Given the description of an element on the screen output the (x, y) to click on. 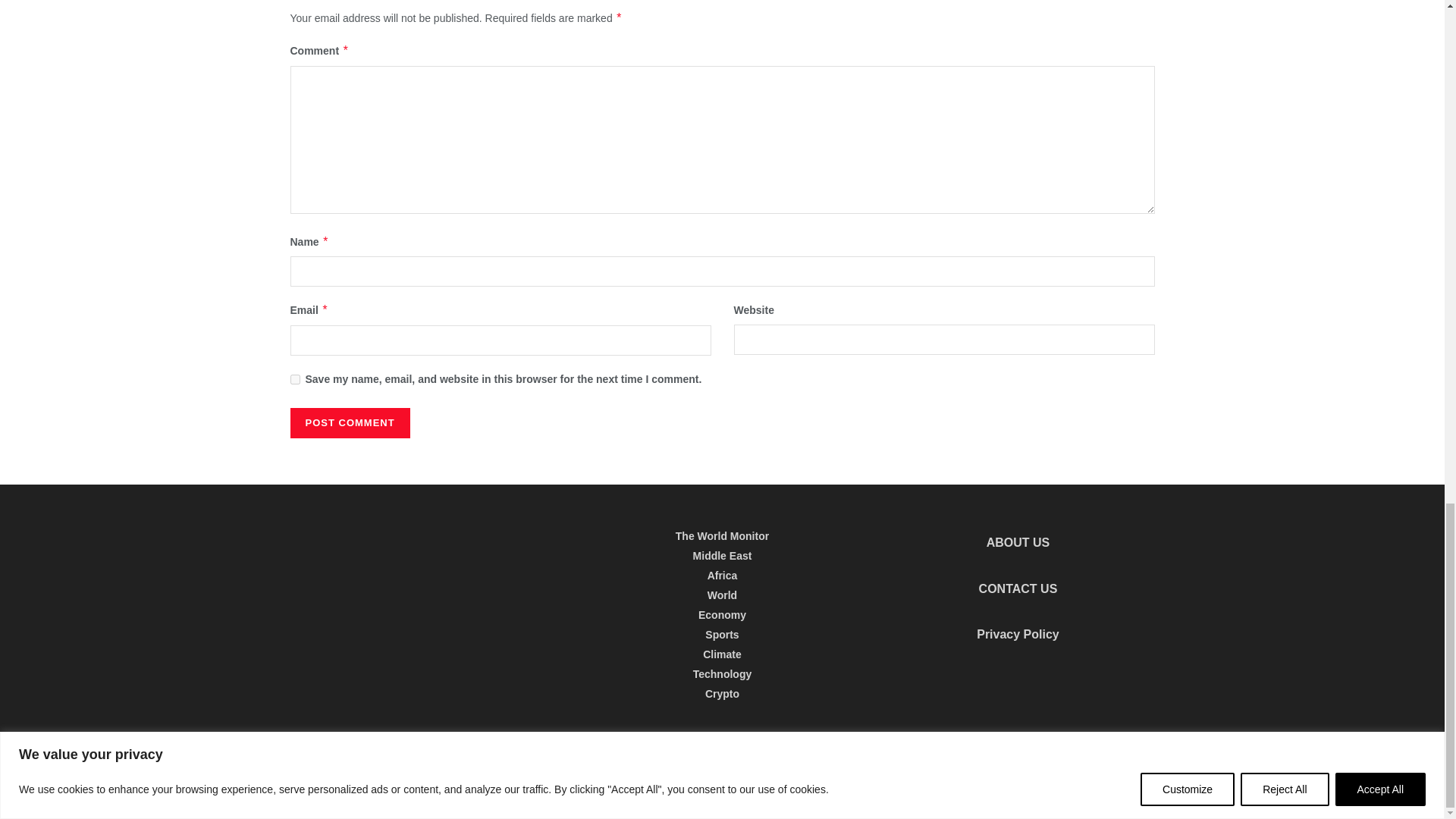
The World Monitor (371, 769)
Post Comment (349, 422)
yes (294, 379)
